Given the description of an element on the screen output the (x, y) to click on. 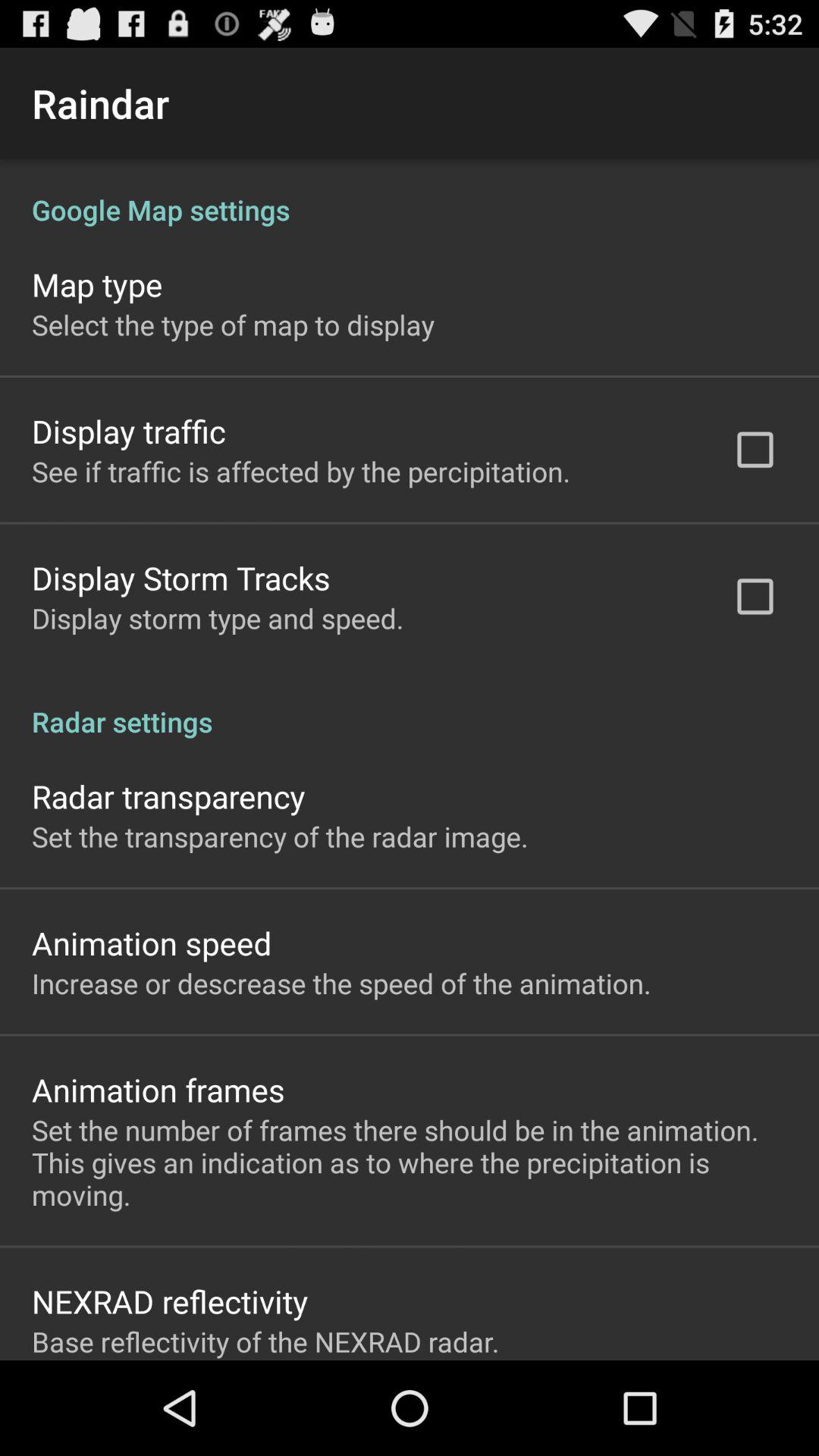
turn off app below display traffic app (300, 471)
